Given the description of an element on the screen output the (x, y) to click on. 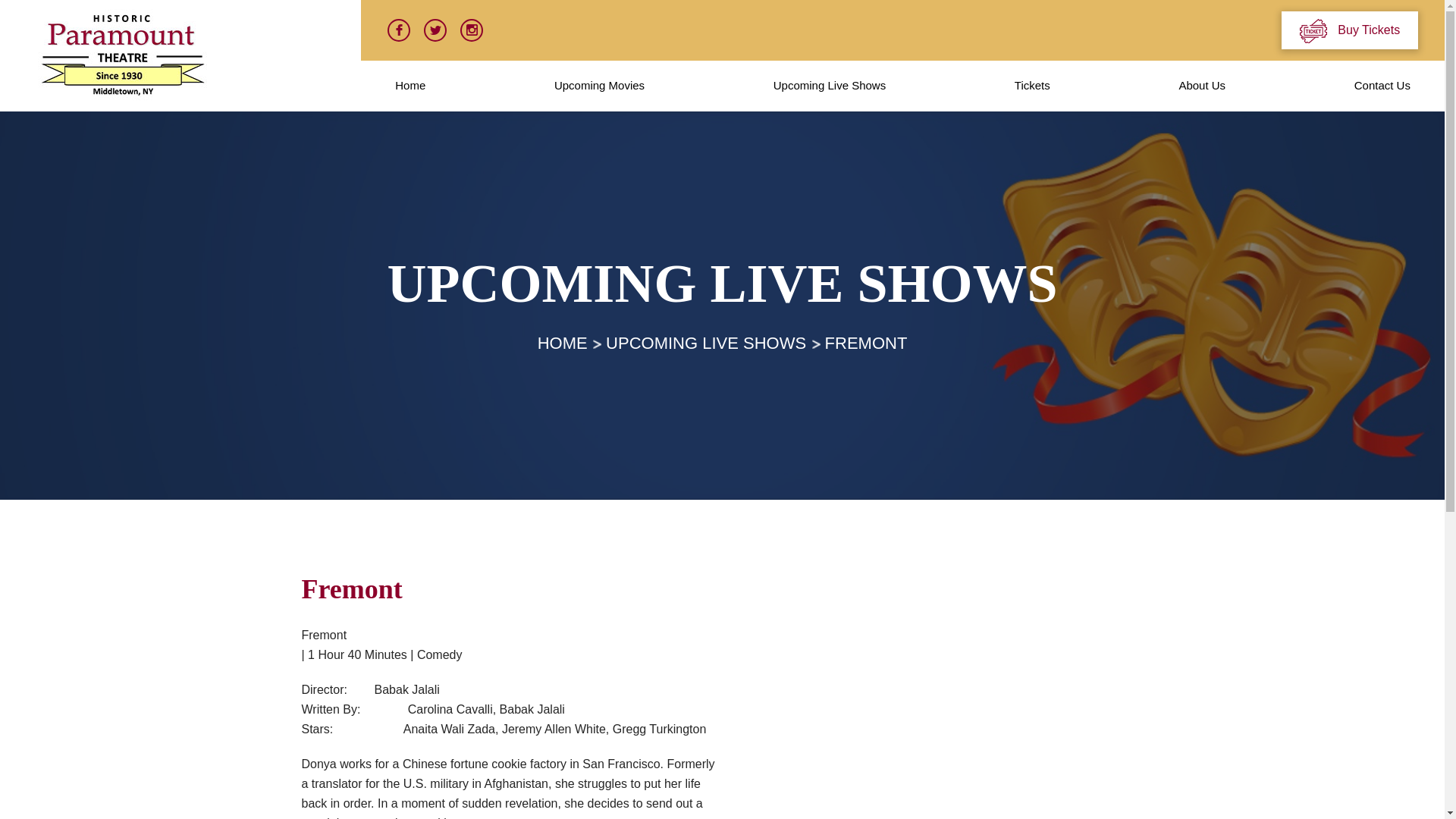
Buy Tickets (1349, 30)
UPCOMING LIVE SHOWS (705, 342)
HOME (562, 342)
Tickets (1032, 85)
About Us (1201, 85)
Home (410, 85)
Upcoming Live Shows (829, 85)
Contact Us (1382, 85)
Upcoming Movies (598, 85)
